Given the description of an element on the screen output the (x, y) to click on. 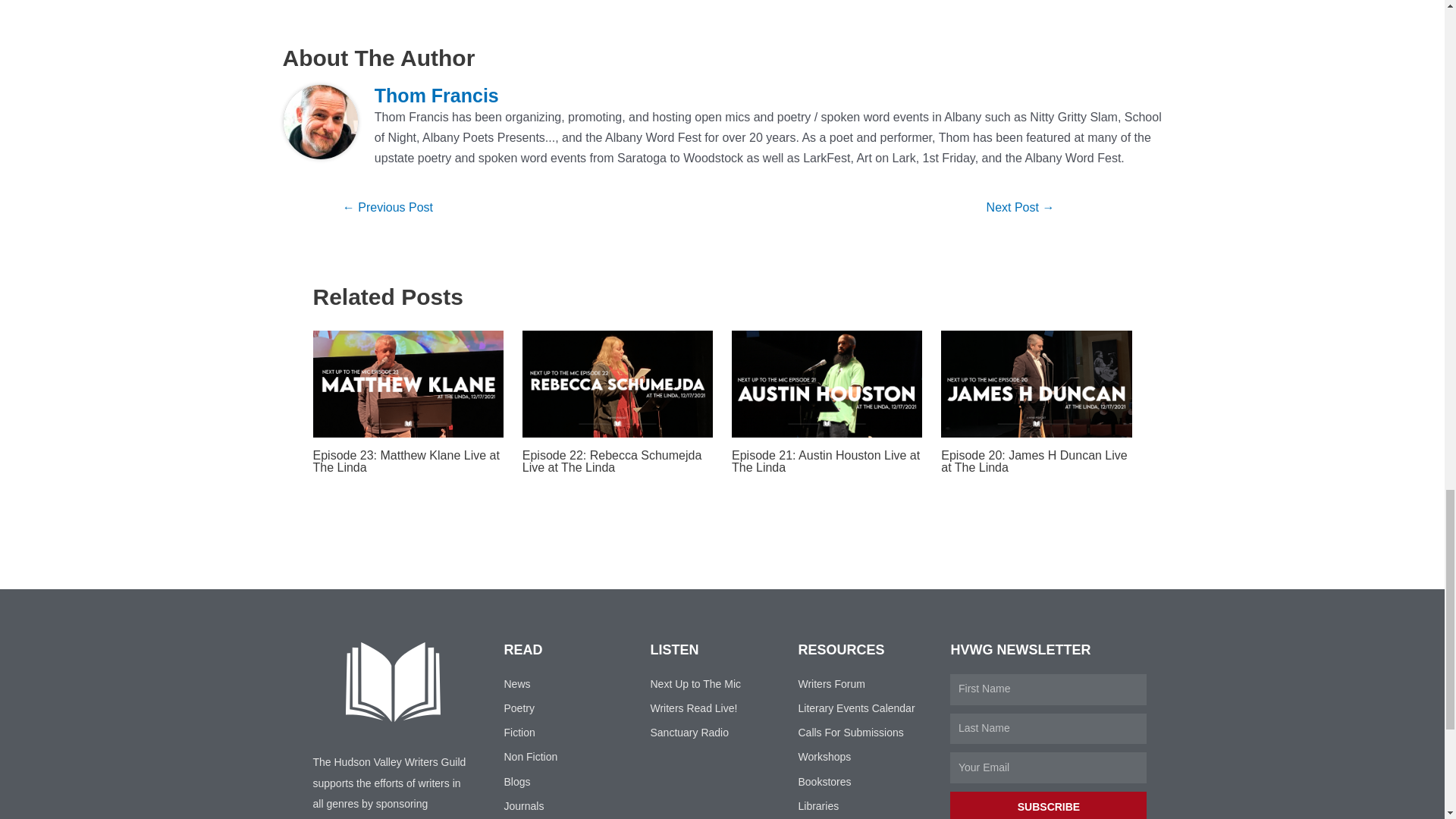
Two Poems - D. Alexander Holiday (1019, 208)
"A Tale of Two Tumors" by Karen DeBonis (387, 208)
HVWG-logo-white-1 (393, 681)
